Given the description of an element on the screen output the (x, y) to click on. 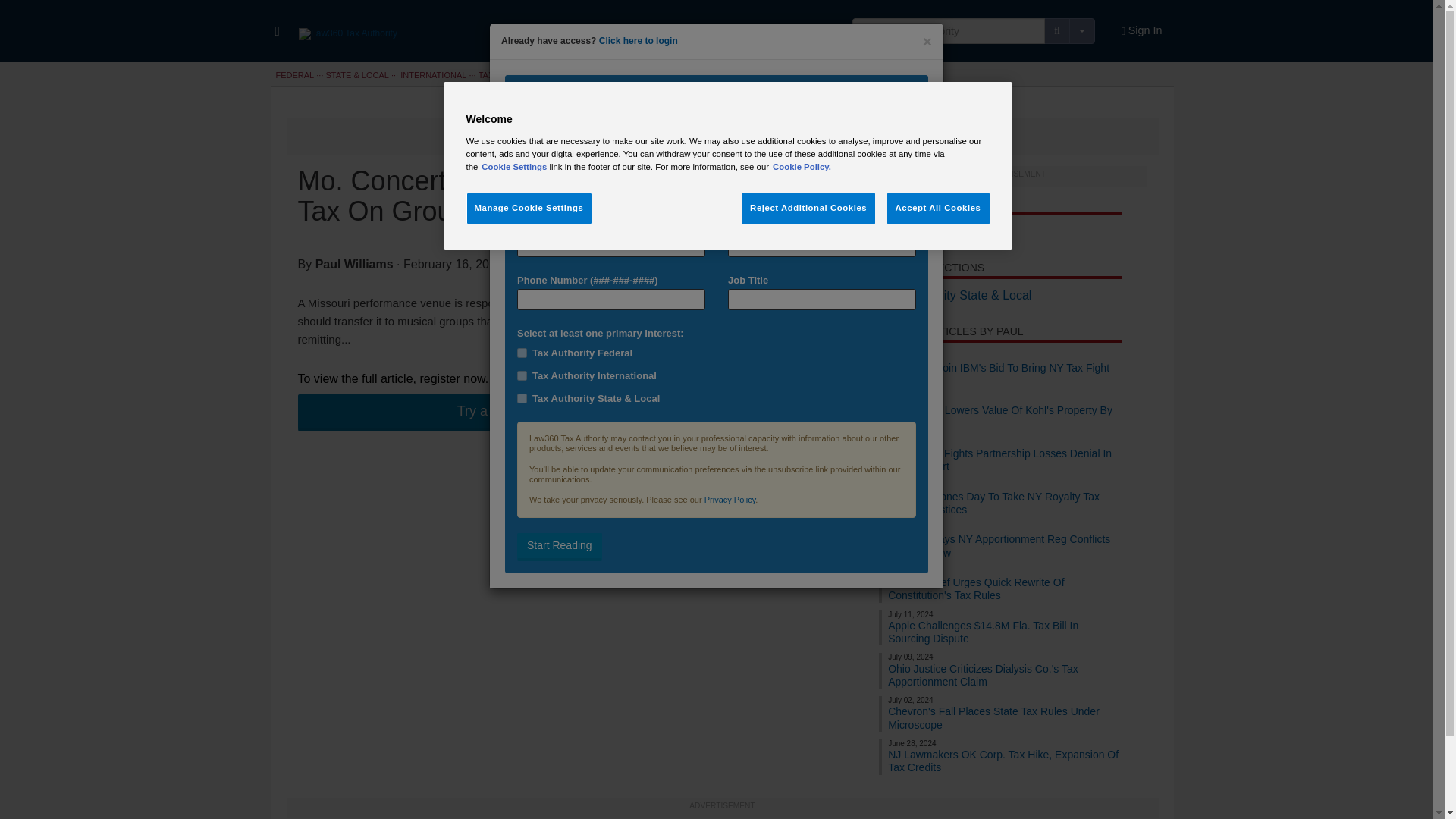
FEDERAL (295, 74)
tax-authority-international (521, 375)
tax-authority-state-local (521, 398)
Try Law360 Tax Authority FREE for seven days (540, 412)
INTERNATIONAL (432, 74)
GO (13, 7)
  Sign In (1141, 31)
tax-authority-federal (521, 352)
Search Button (1056, 31)
Select an Interest Area (715, 377)
Toggle Dropdown (1081, 31)
